Given the description of an element on the screen output the (x, y) to click on. 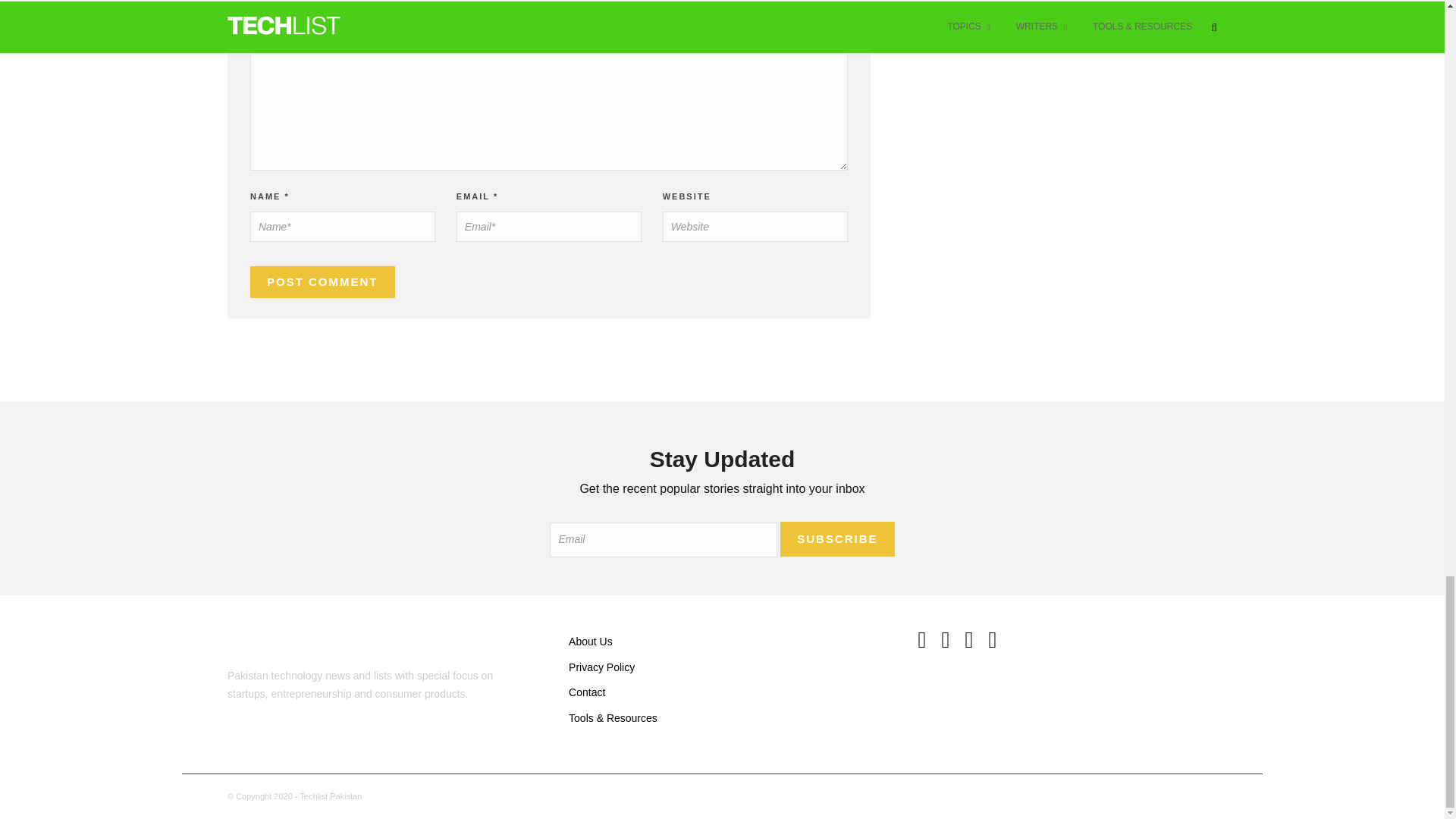
Subscribe (836, 538)
Post Comment (322, 282)
